Given the description of an element on the screen output the (x, y) to click on. 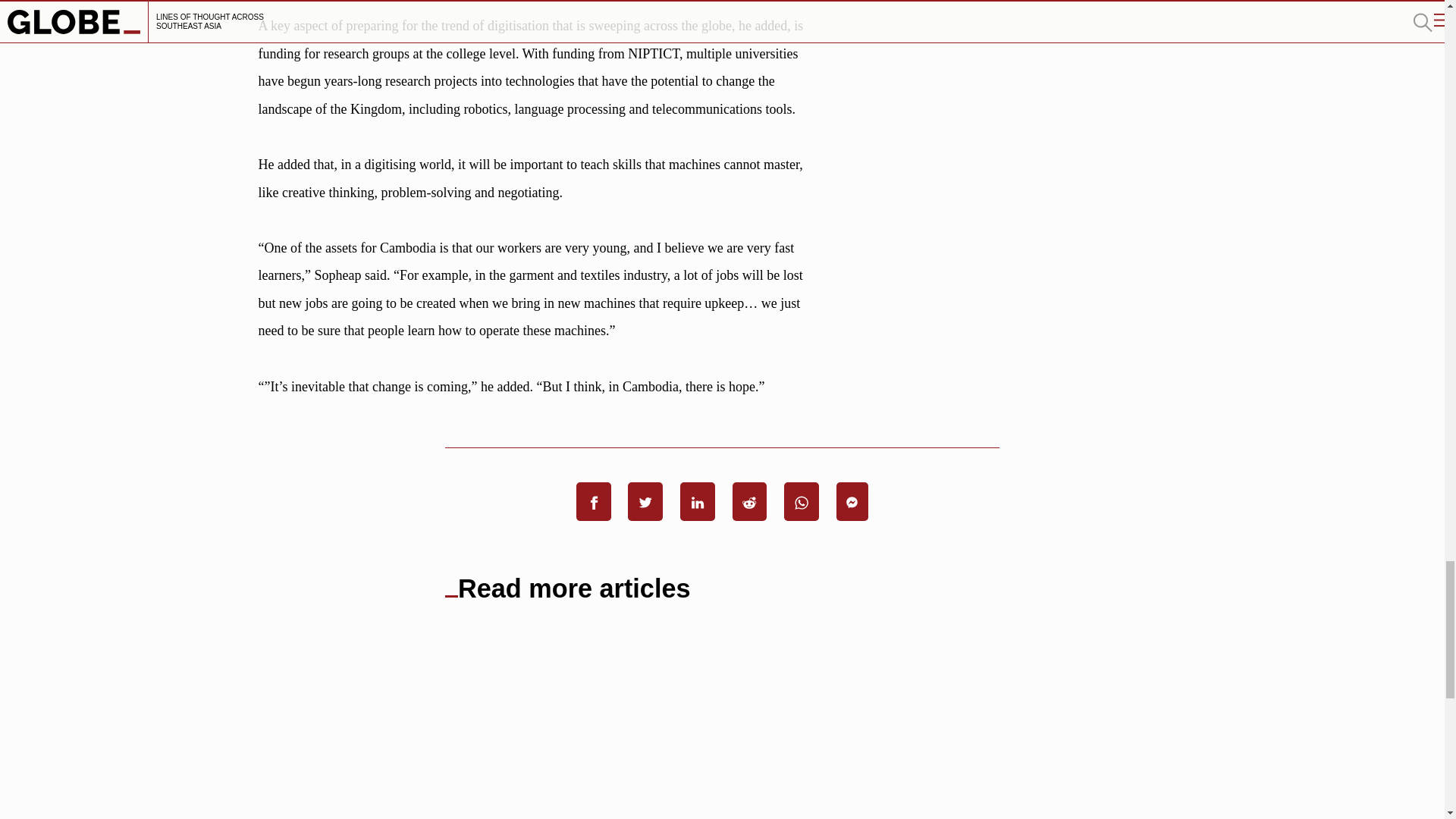
Facebook messenger (851, 501)
